Given the description of an element on the screen output the (x, y) to click on. 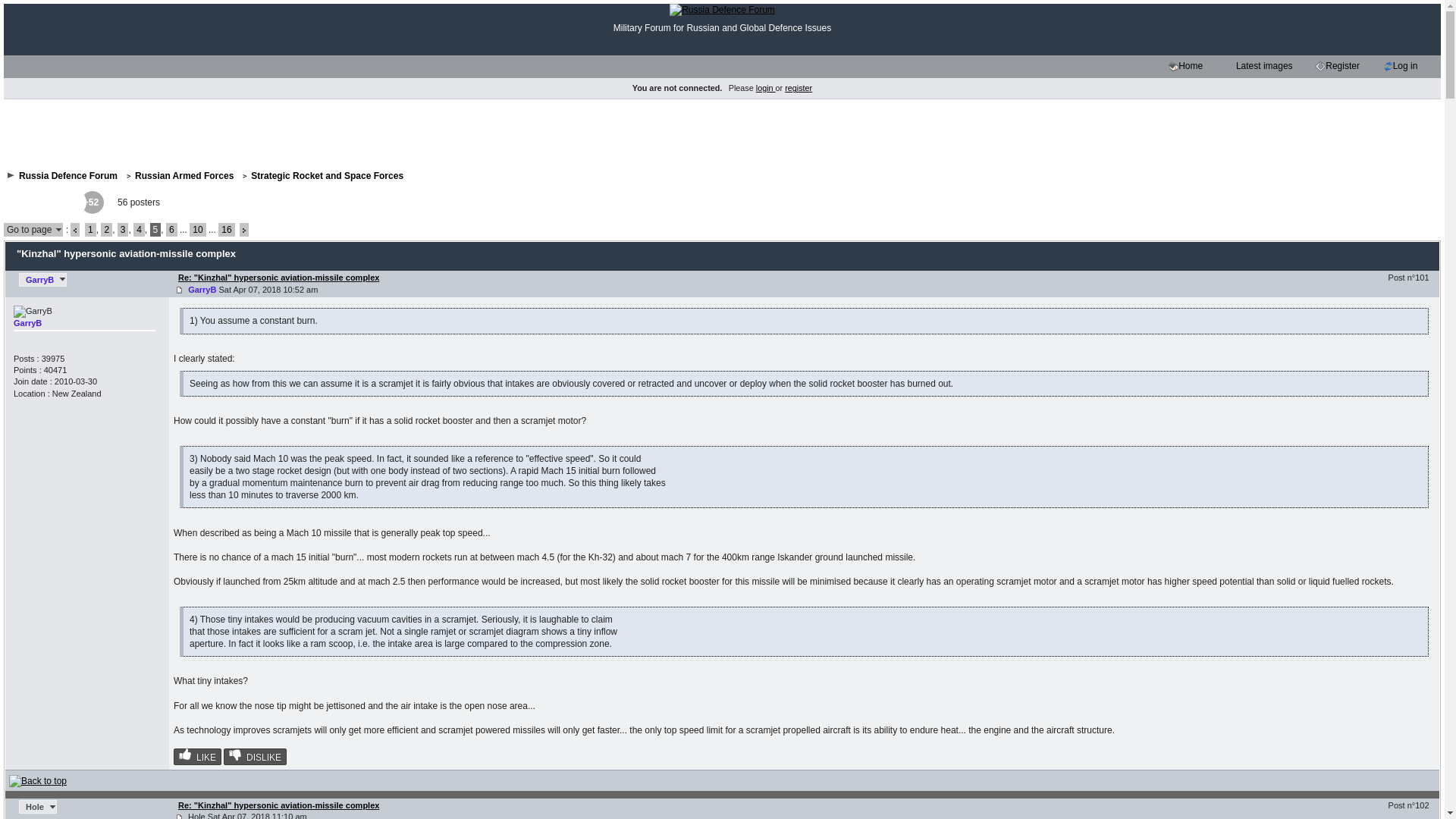
Strategic Rocket and Space Forces (326, 175)
Log in (1404, 66)
LIKE (197, 756)
Register (1320, 66)
Russian Armed Forces (183, 175)
login (765, 87)
Re: "Kinzhal" hypersonic aviation-missile complex (277, 804)
Register (1342, 66)
Hole (37, 807)
